Given the description of an element on the screen output the (x, y) to click on. 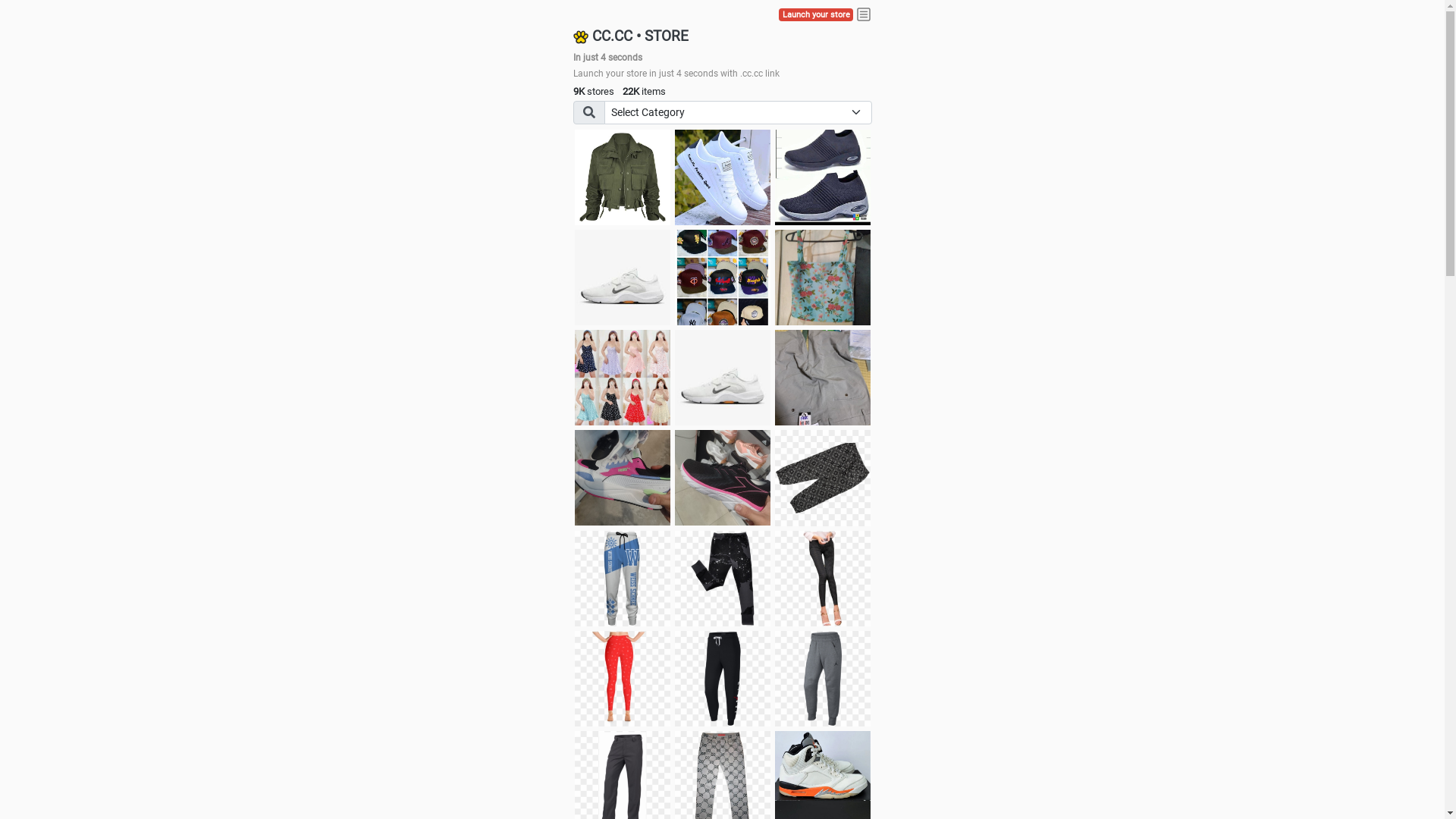
Shoes for boys Element type: hover (622, 277)
shoes for boys Element type: hover (822, 177)
Pant Element type: hover (622, 678)
Zapatillas Element type: hover (722, 477)
Pant Element type: hover (722, 578)
white shoes Element type: hover (722, 177)
Launch your store Element type: text (815, 14)
Ukay cloth Element type: hover (822, 277)
Shoes Element type: hover (722, 377)
Short pant Element type: hover (822, 477)
Things we need Element type: hover (722, 277)
Pant Element type: hover (822, 578)
Pant Element type: hover (622, 578)
jacket Element type: hover (622, 177)
Zapatillas pumas Element type: hover (622, 477)
Pant Element type: hover (722, 678)
Dress/square nect top Element type: hover (622, 377)
Pant Element type: hover (822, 678)
